Given the description of an element on the screen output the (x, y) to click on. 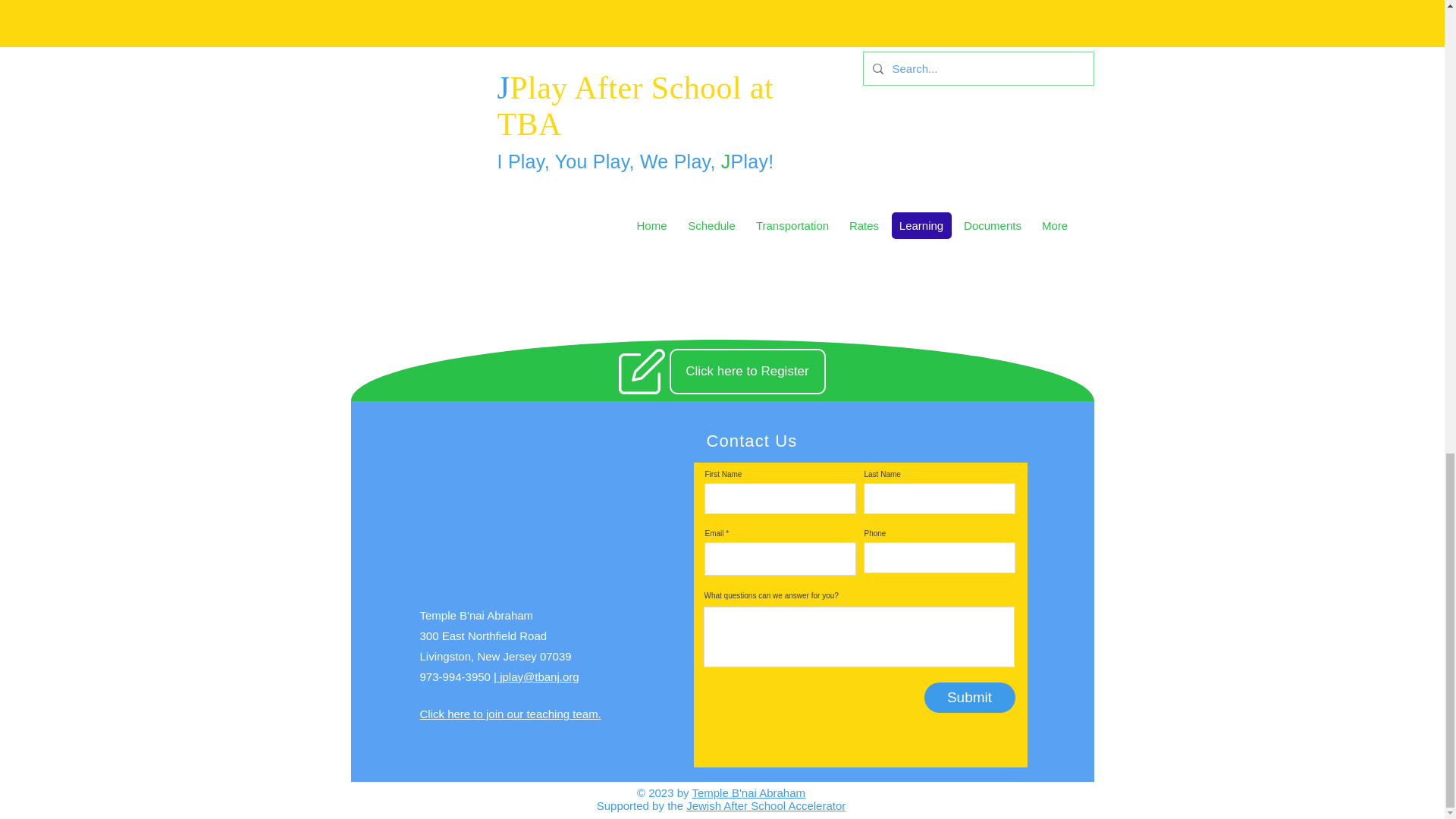
Temple B'nai Abraham (748, 792)
Click here to Register (746, 370)
Contact Us (751, 440)
Click here to join our teaching team. (510, 713)
Jewish After School Accelerator (765, 805)
Temple B'nai Abraham (477, 615)
Submit (968, 697)
